Given the description of an element on the screen output the (x, y) to click on. 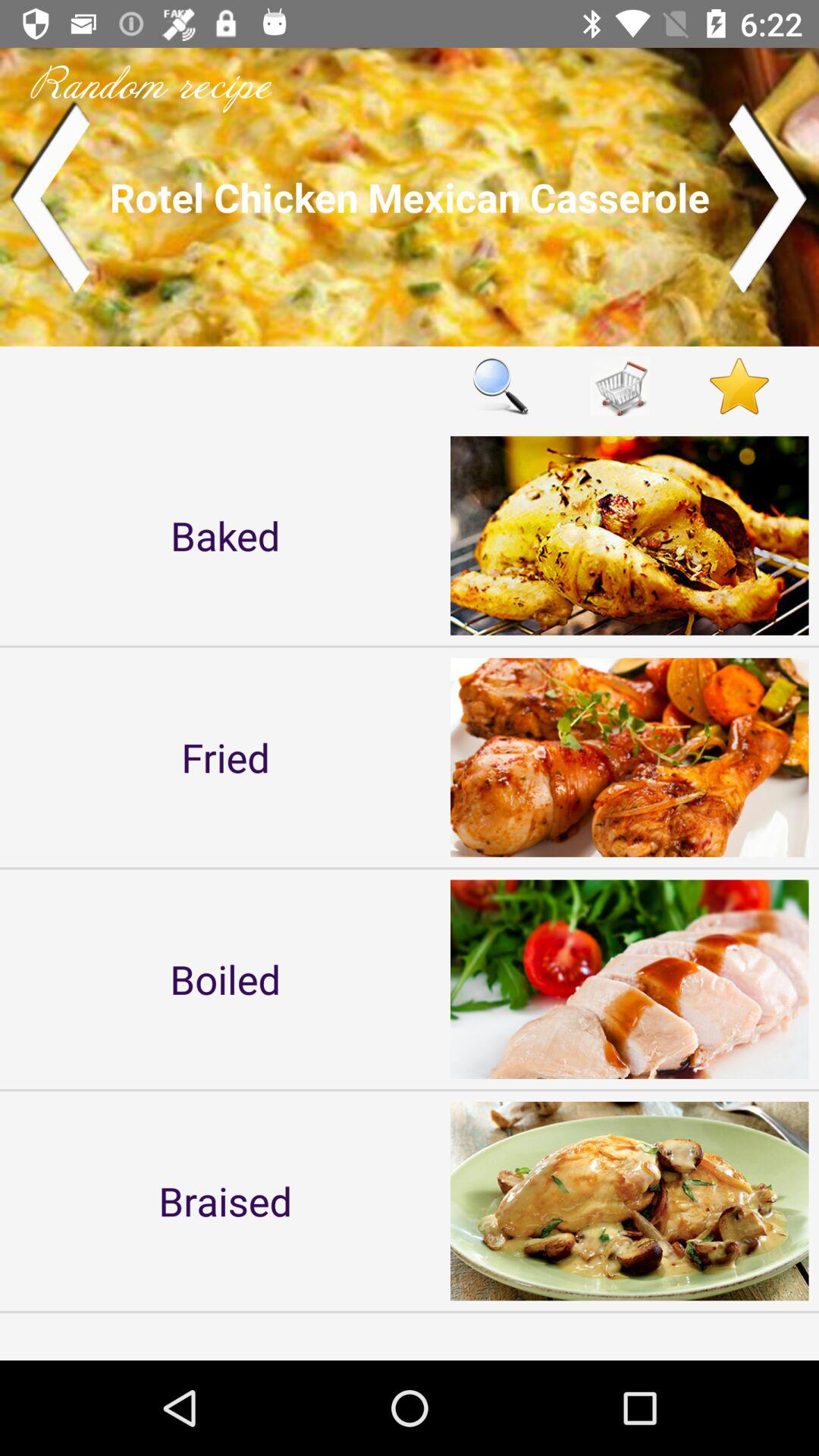
tap item above the fried item (225, 534)
